Given the description of an element on the screen output the (x, y) to click on. 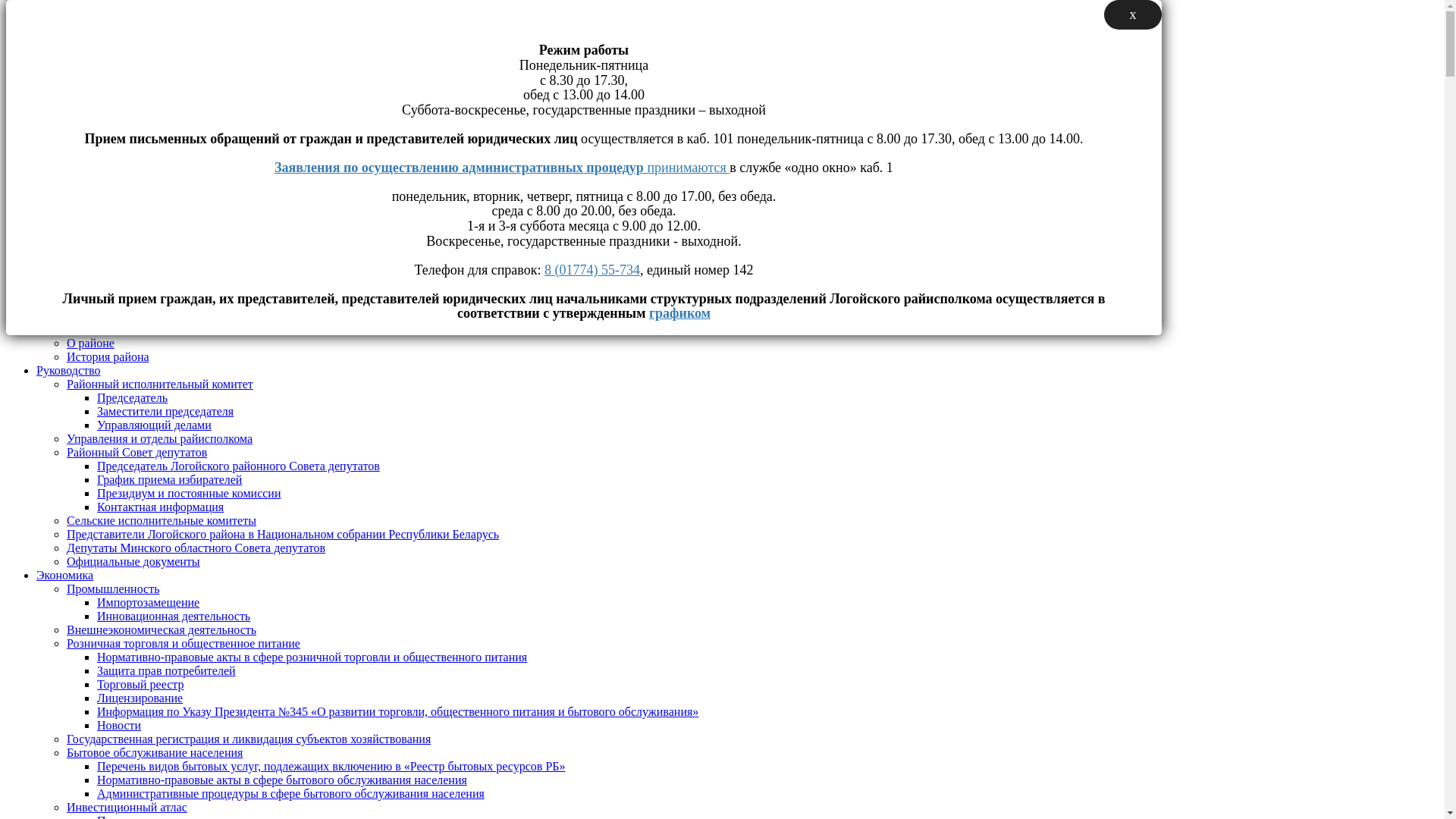
8 (01774) 55-734 Element type: text (592, 269)
